Given the description of an element on the screen output the (x, y) to click on. 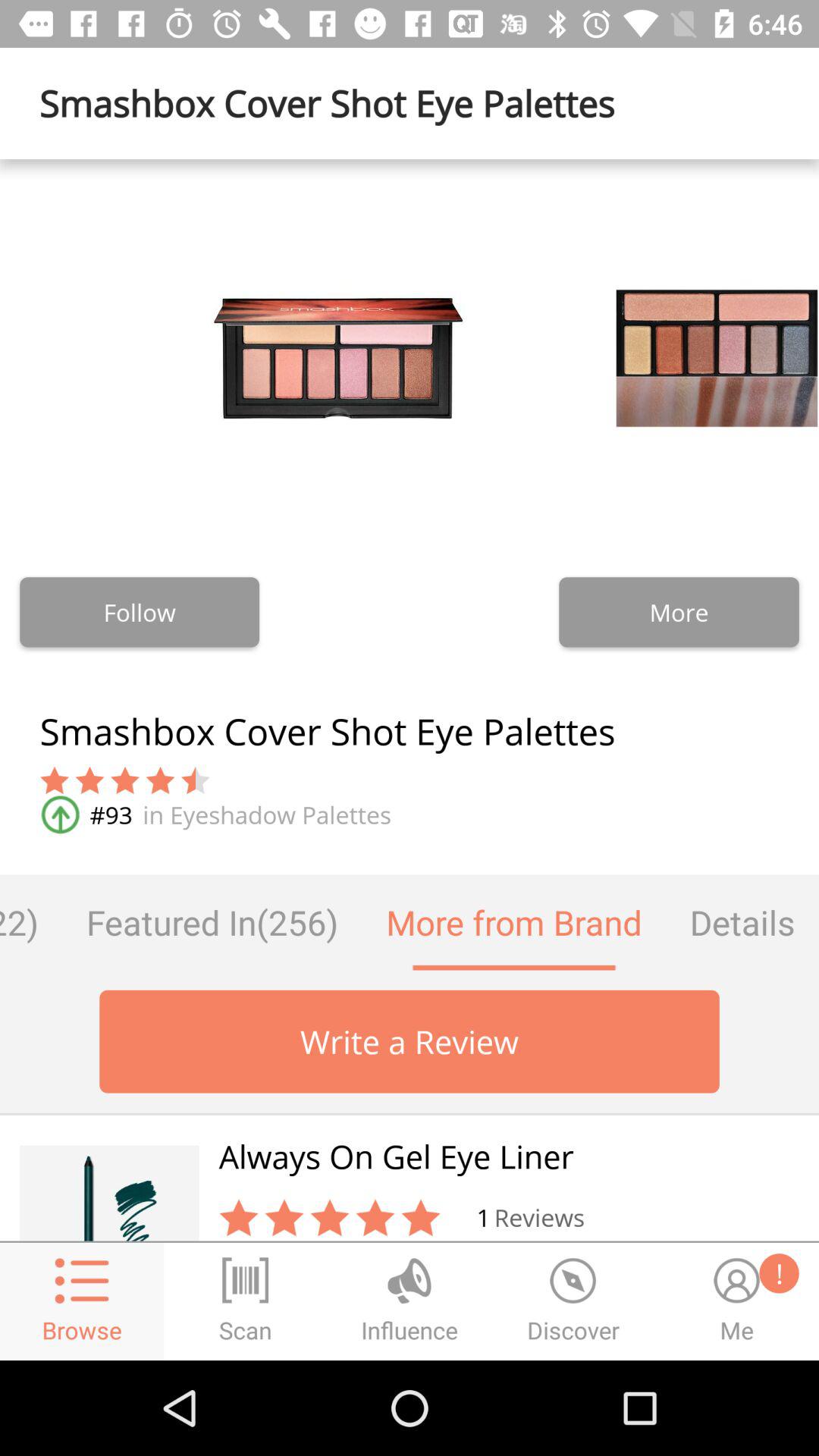
launch item below smashbox cover shot icon (742, 922)
